Given the description of an element on the screen output the (x, y) to click on. 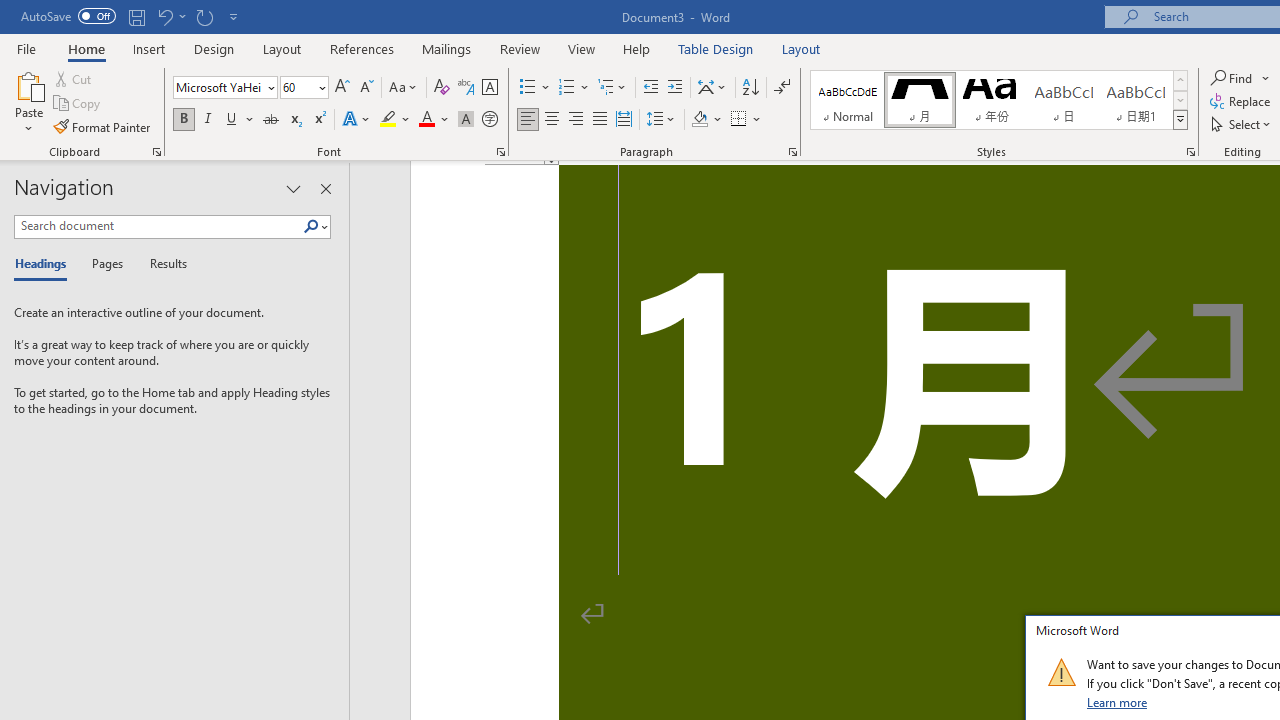
Font Color RGB(255, 0, 0) (426, 119)
Learn more (1118, 702)
